Given the description of an element on the screen output the (x, y) to click on. 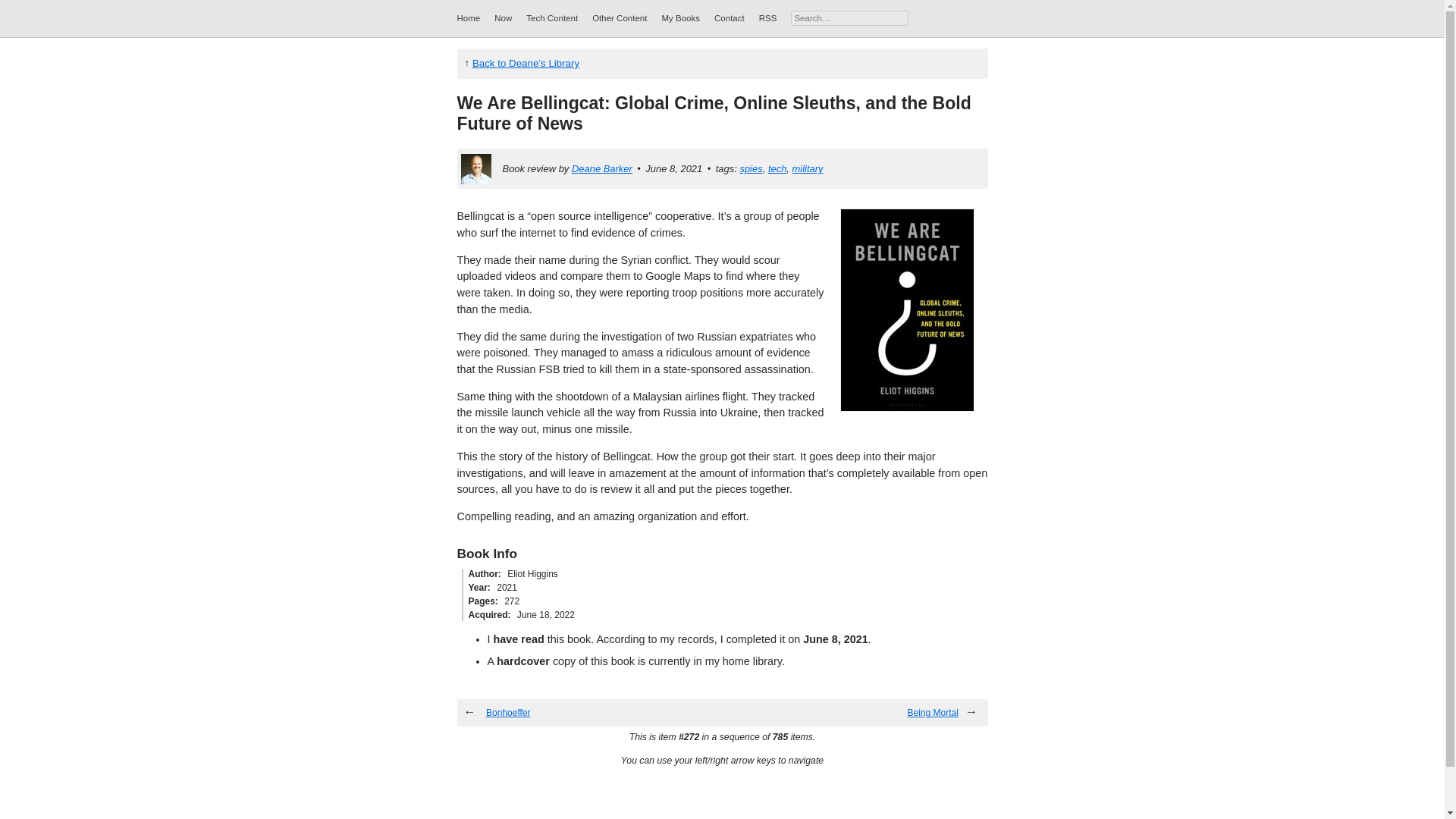
Now (503, 17)
Deane Barker (601, 168)
Bonhoeffer (508, 712)
tech (777, 168)
RSS (767, 17)
My Books (680, 17)
Contact (729, 17)
Tech Content (551, 17)
military (808, 168)
Other Content (619, 17)
spies (750, 168)
Being Mortal (932, 712)
Home (468, 17)
